Given the description of an element on the screen output the (x, y) to click on. 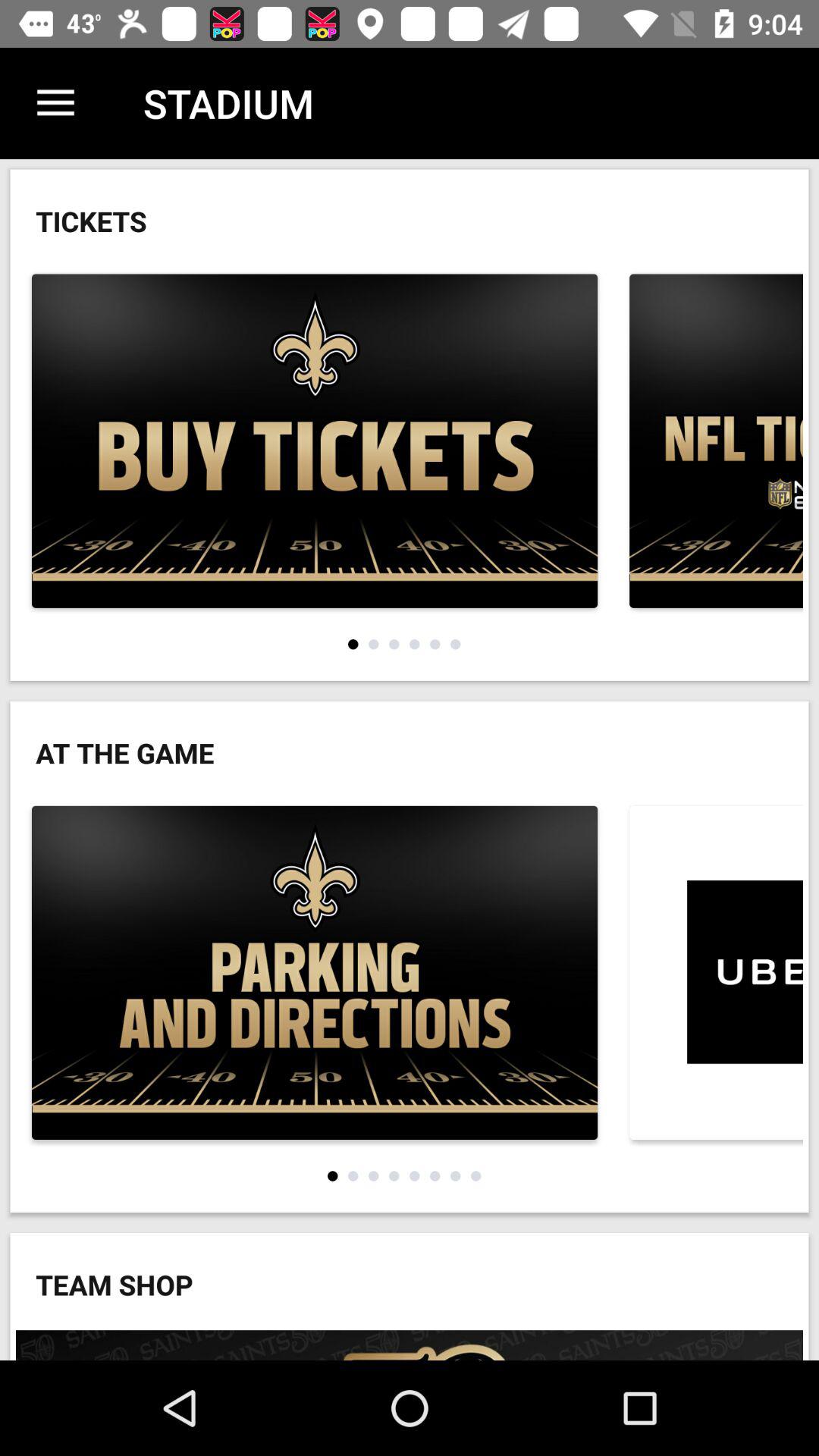
launch the item to the left of stadium (55, 103)
